Given the description of an element on the screen output the (x, y) to click on. 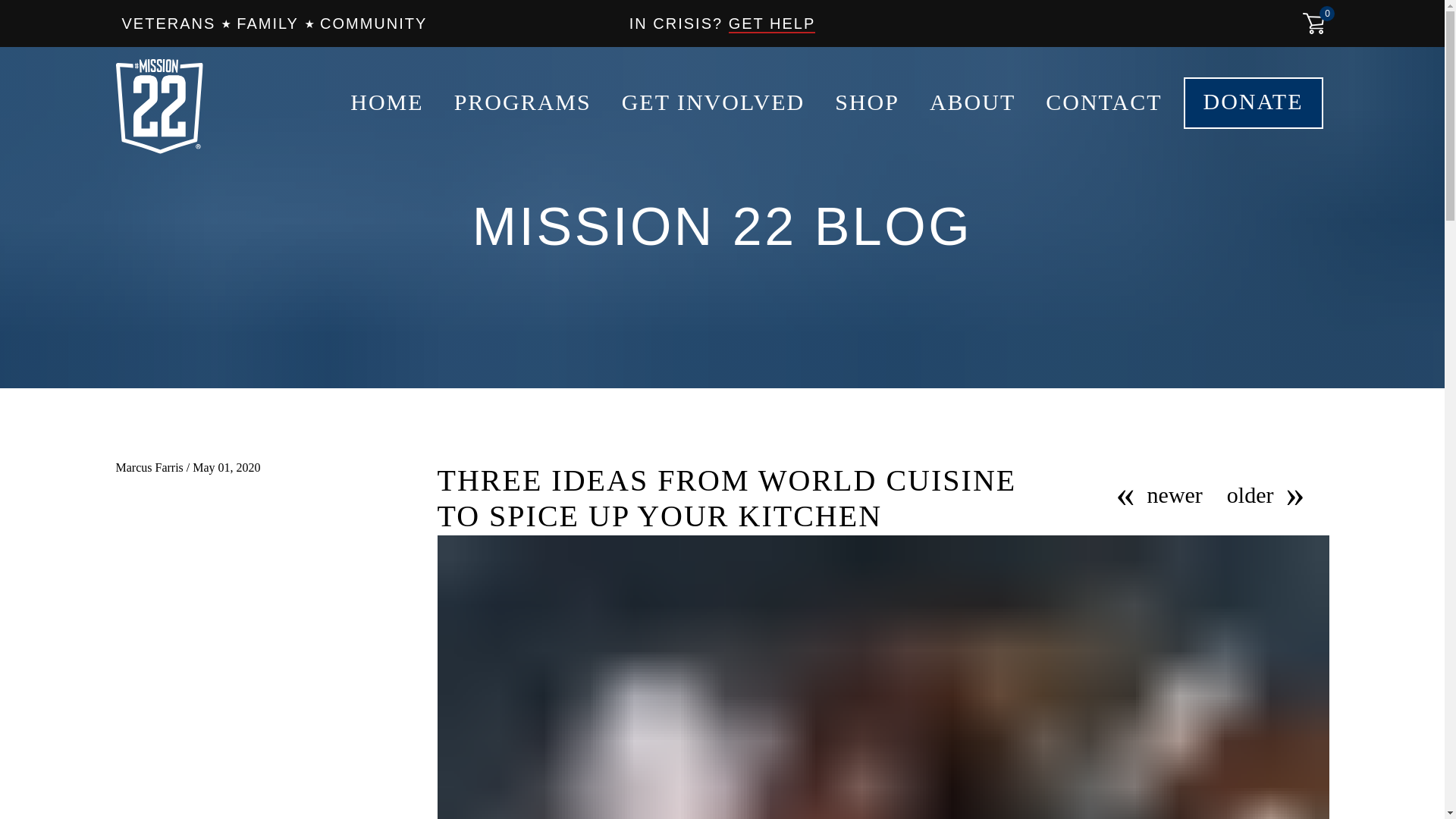
SHOP (866, 105)
0 (1312, 23)
PROGRAMS (522, 105)
ABOUT (972, 105)
CONTACT (1103, 105)
GET INVOLVED (713, 105)
GET HELP (772, 24)
HOME (386, 105)
DONATE (1252, 101)
